Given the description of an element on the screen output the (x, y) to click on. 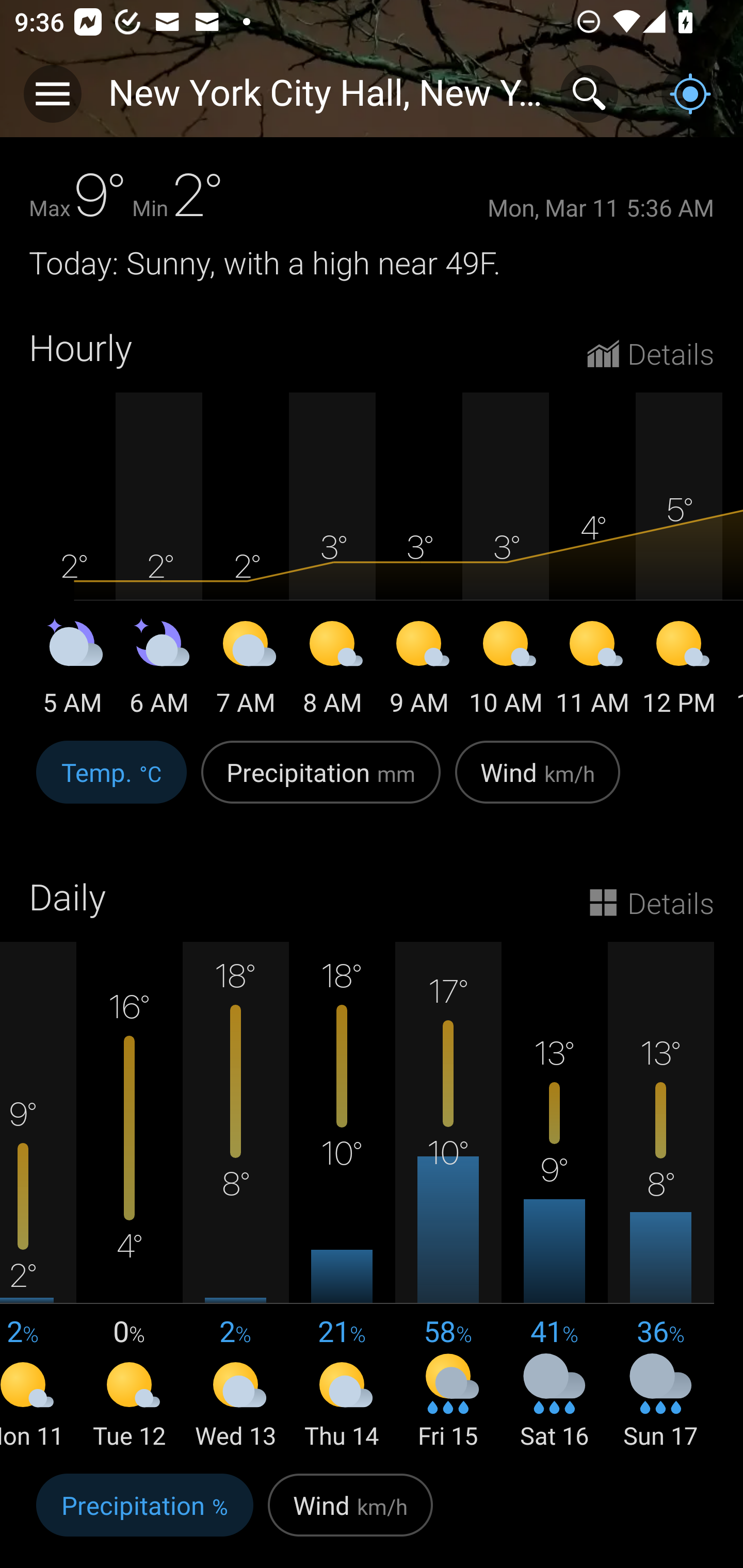
5 AM (71, 670)
6 AM (158, 670)
7 AM (245, 670)
8 AM (332, 670)
9 AM (418, 670)
10 AM (505, 670)
11 AM (592, 670)
12 PM (679, 670)
Temp. °C (110, 782)
Precipitation mm (320, 782)
Wind km/h (537, 782)
9° 2° 2 % Mon 11 (38, 1196)
16° 4° 0 % Tue 12 (129, 1196)
18° 8° 2 % Wed 13 (235, 1196)
18° 10° 21 % Thu 14 (342, 1196)
17° 10° 58 % Fri 15 (448, 1196)
13° 9° 41 % Sat 16 (554, 1196)
13° 8° 36 % Sun 17 (660, 1196)
Precipitation % (144, 1515)
Wind km/h (349, 1515)
